Given the description of an element on the screen output the (x, y) to click on. 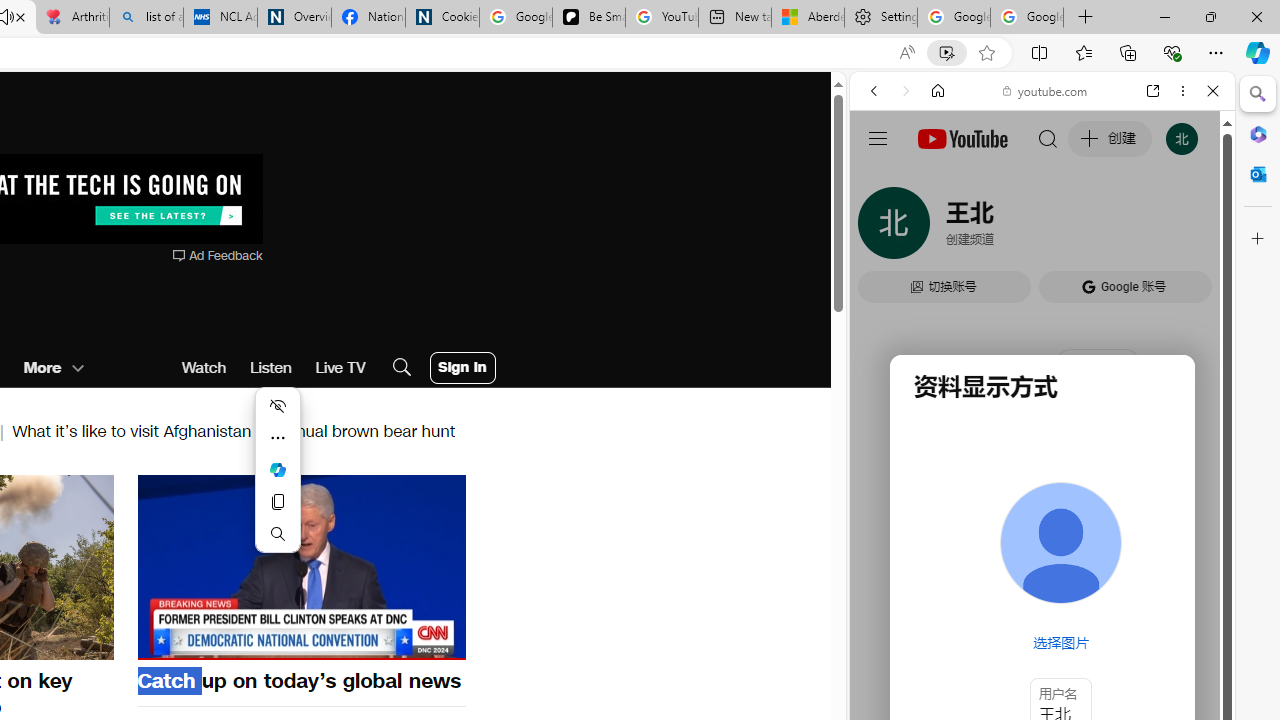
Pause (301, 564)
Ask Copilot (277, 470)
Fullscreen (438, 642)
Fullscreen (438, 642)
Mini menu on text selection (277, 470)
